Given the description of an element on the screen output the (x, y) to click on. 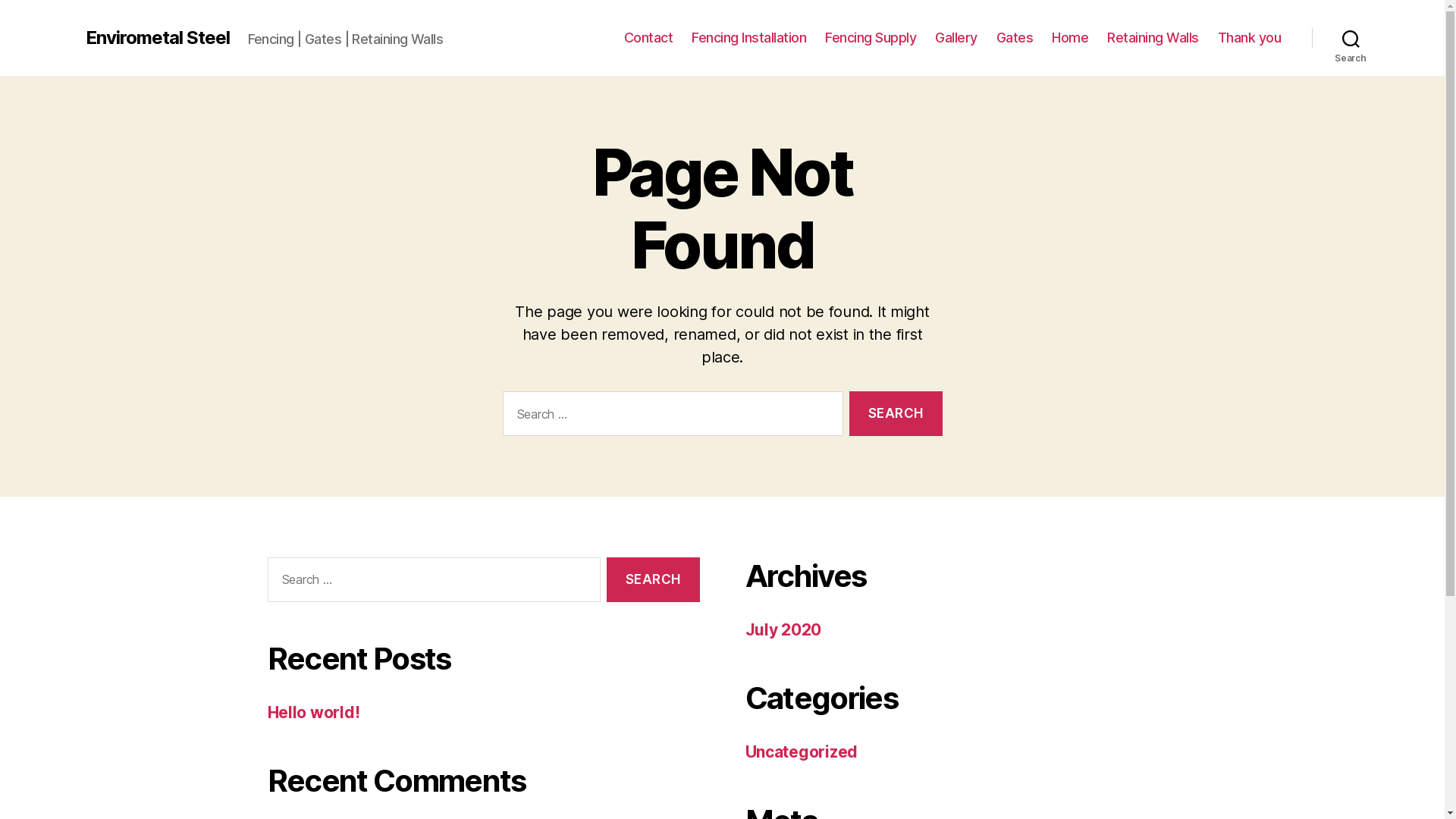
Uncategorized Element type: text (800, 751)
Home Element type: text (1069, 37)
July 2020 Element type: text (782, 629)
Contact Element type: text (648, 37)
Hello world! Element type: text (312, 711)
Gallery Element type: text (956, 37)
Search Element type: text (1350, 37)
Search Element type: text (895, 413)
Fencing Installation Element type: text (748, 37)
Retaining Walls Element type: text (1152, 37)
Fencing Supply Element type: text (870, 37)
Search Element type: text (652, 579)
Envirometal Steel Element type: text (156, 37)
Thank you Element type: text (1249, 37)
Gates Element type: text (1014, 37)
